Given the description of an element on the screen output the (x, y) to click on. 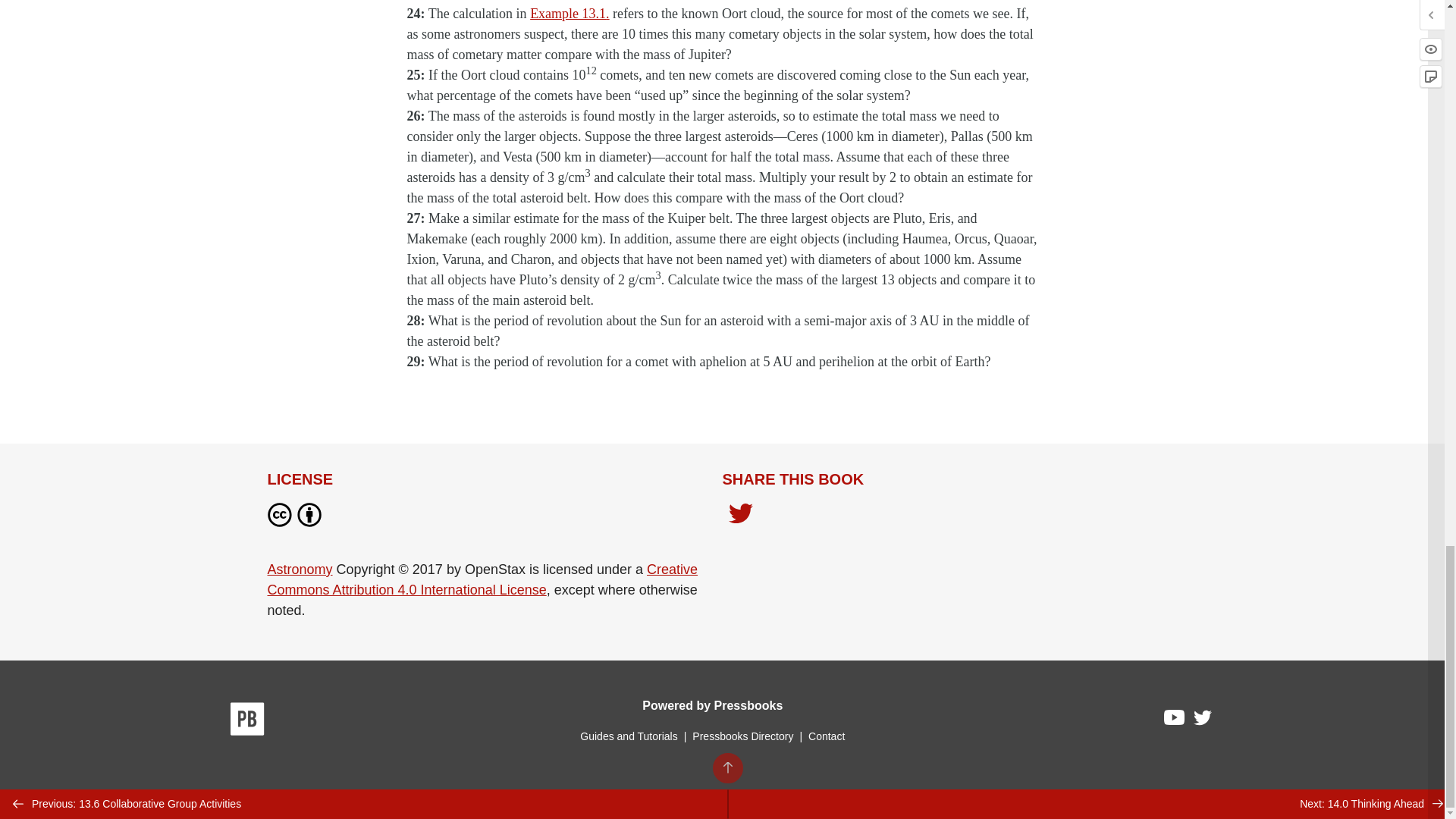
Share on Twitter (740, 517)
Contact (826, 736)
. (607, 13)
Pressbooks on YouTube (1174, 721)
Pressbooks on Twitter (1202, 721)
Pressbooks (247, 721)
Example 13.1 (567, 13)
Creative Commons Attribution 4.0 International License (481, 579)
Astronomy (298, 569)
Powered by Pressbooks (712, 705)
Share on Twitter (740, 514)
Guides and Tutorials (627, 736)
Pressbooks Directory (742, 736)
